Given the description of an element on the screen output the (x, y) to click on. 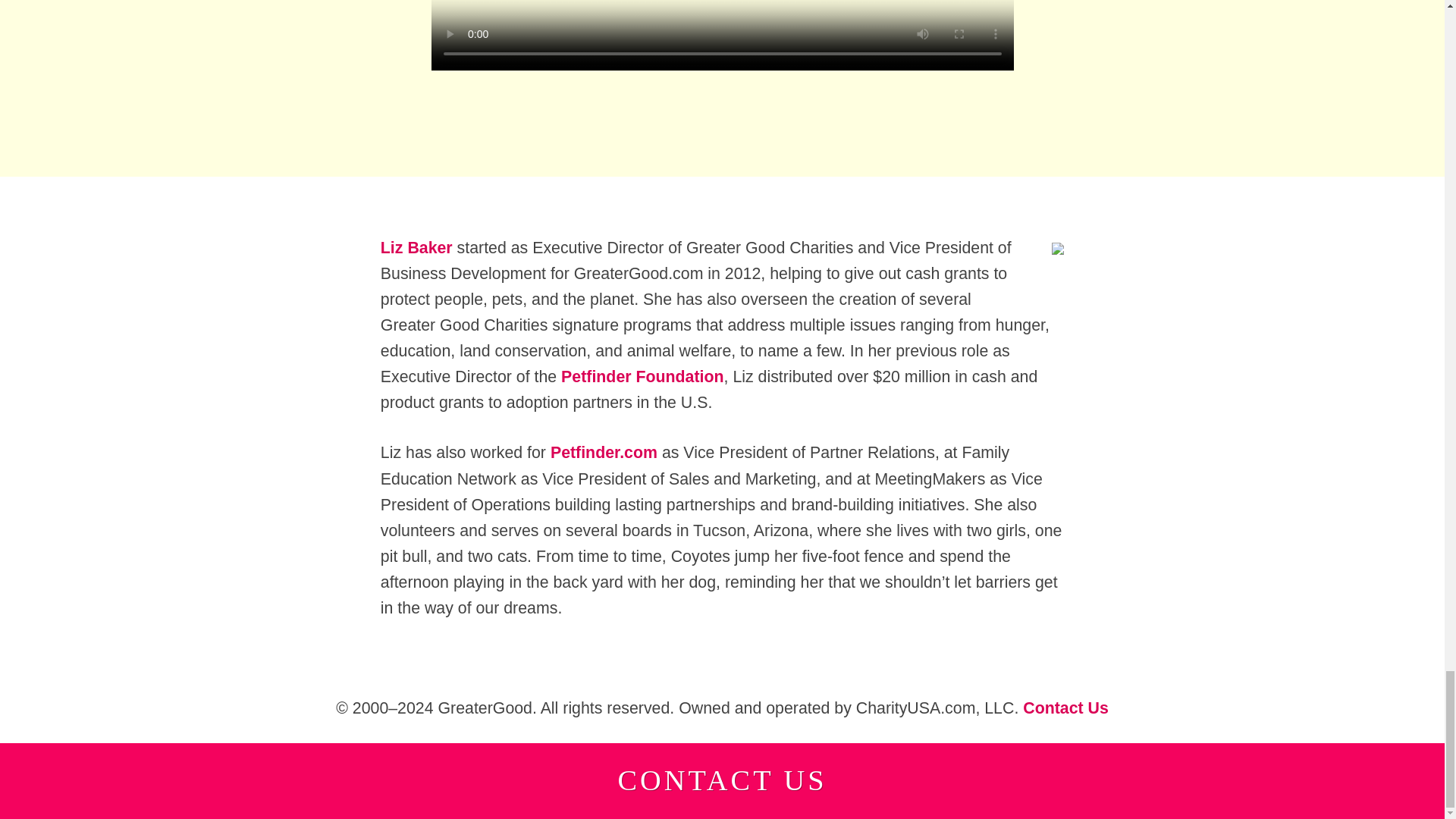
Petfinder Foundation (641, 376)
Liz Baker (416, 248)
Petfinder.com (604, 452)
Contact Us (1065, 708)
